Given the description of an element on the screen output the (x, y) to click on. 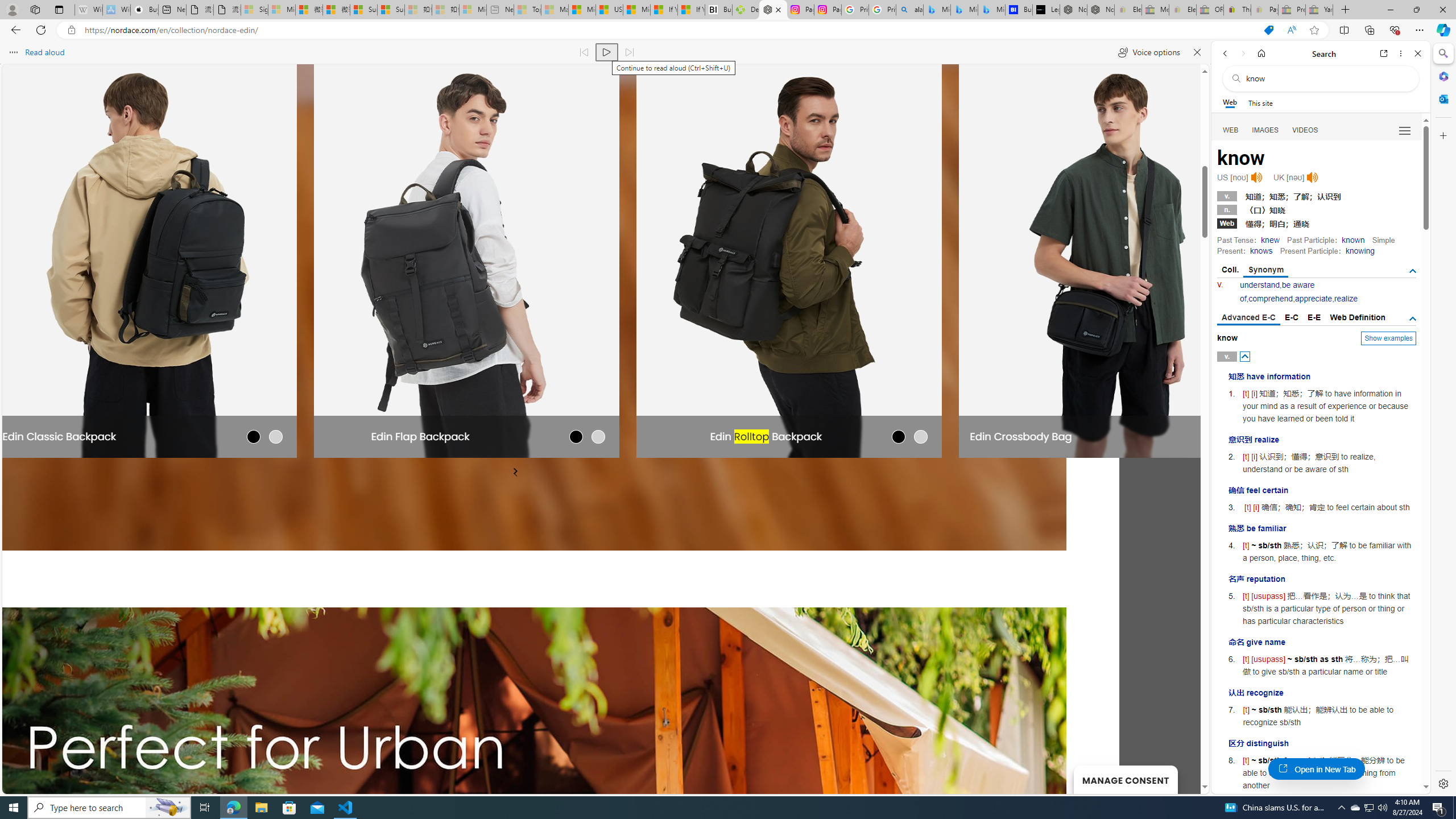
Sign in to your Microsoft account - Sleeping (254, 9)
MANAGE CONSENT (1125, 779)
App bar (728, 29)
Voice options (1149, 52)
Preferences (1403, 129)
Black (253, 436)
Microsoft Services Agreement - Sleeping (281, 9)
Customize (1442, 135)
Personal Profile (12, 9)
Web Definition (1357, 317)
